Given the description of an element on the screen output the (x, y) to click on. 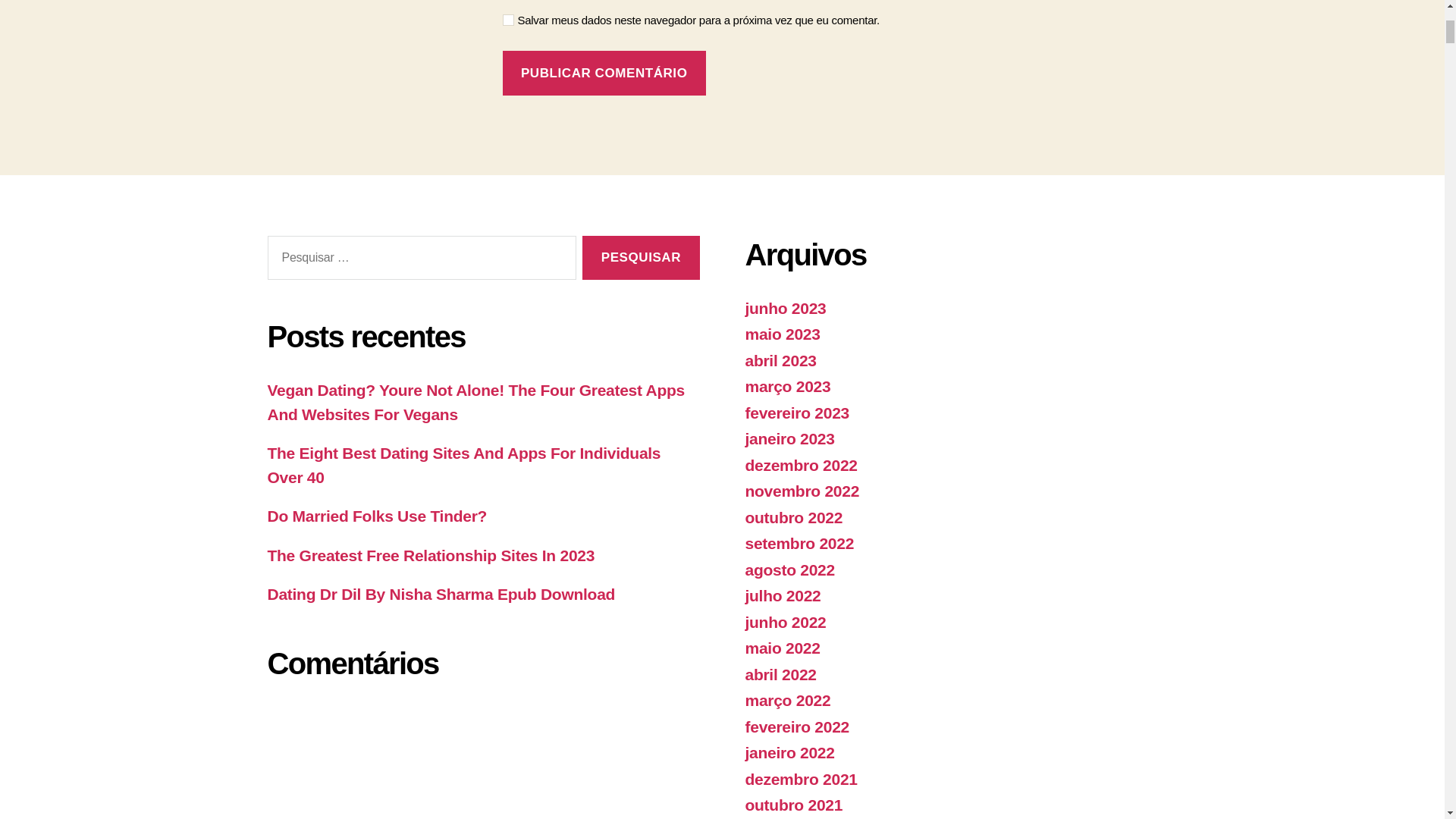
The Greatest Free Relationship Sites In 2023 (430, 555)
janeiro 2023 (789, 438)
novembro 2022 (801, 490)
Do Married Folks Use Tinder? (376, 515)
The Eight Best Dating Sites And Apps For Individuals Over 40 (463, 465)
Pesquisar (640, 257)
Dating Dr Dil By Nisha Sharma Epub Download (440, 593)
fevereiro 2023 (796, 412)
yes (507, 19)
junho 2023 (784, 307)
Pesquisar (640, 257)
maio 2023 (781, 334)
abril 2023 (779, 360)
dezembro 2022 (800, 465)
